Given the description of an element on the screen output the (x, y) to click on. 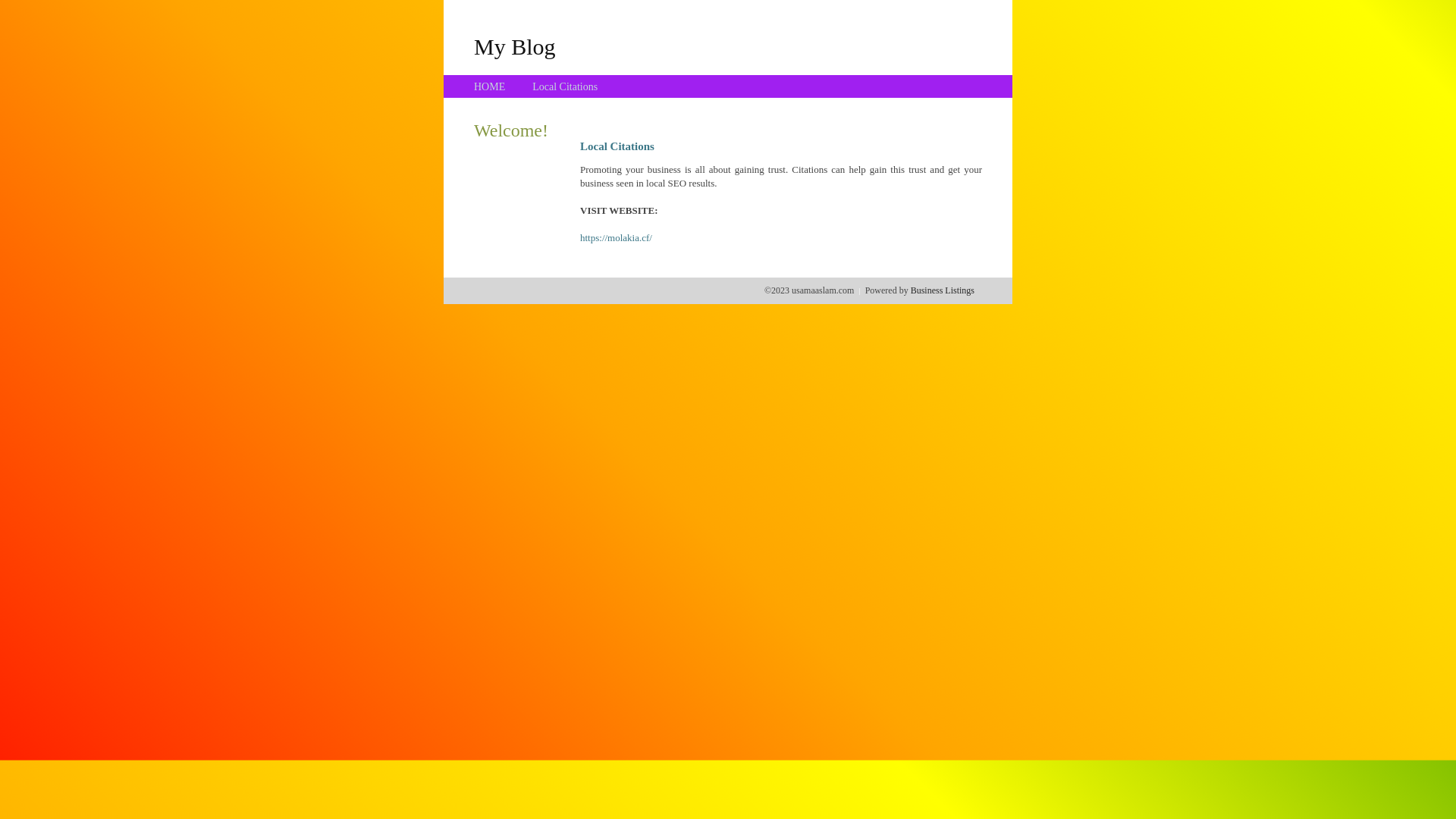
https://molakia.cf/ Element type: text (616, 237)
My Blog Element type: text (514, 46)
Business Listings Element type: text (942, 290)
HOME Element type: text (489, 86)
Local Citations Element type: text (564, 86)
